Given the description of an element on the screen output the (x, y) to click on. 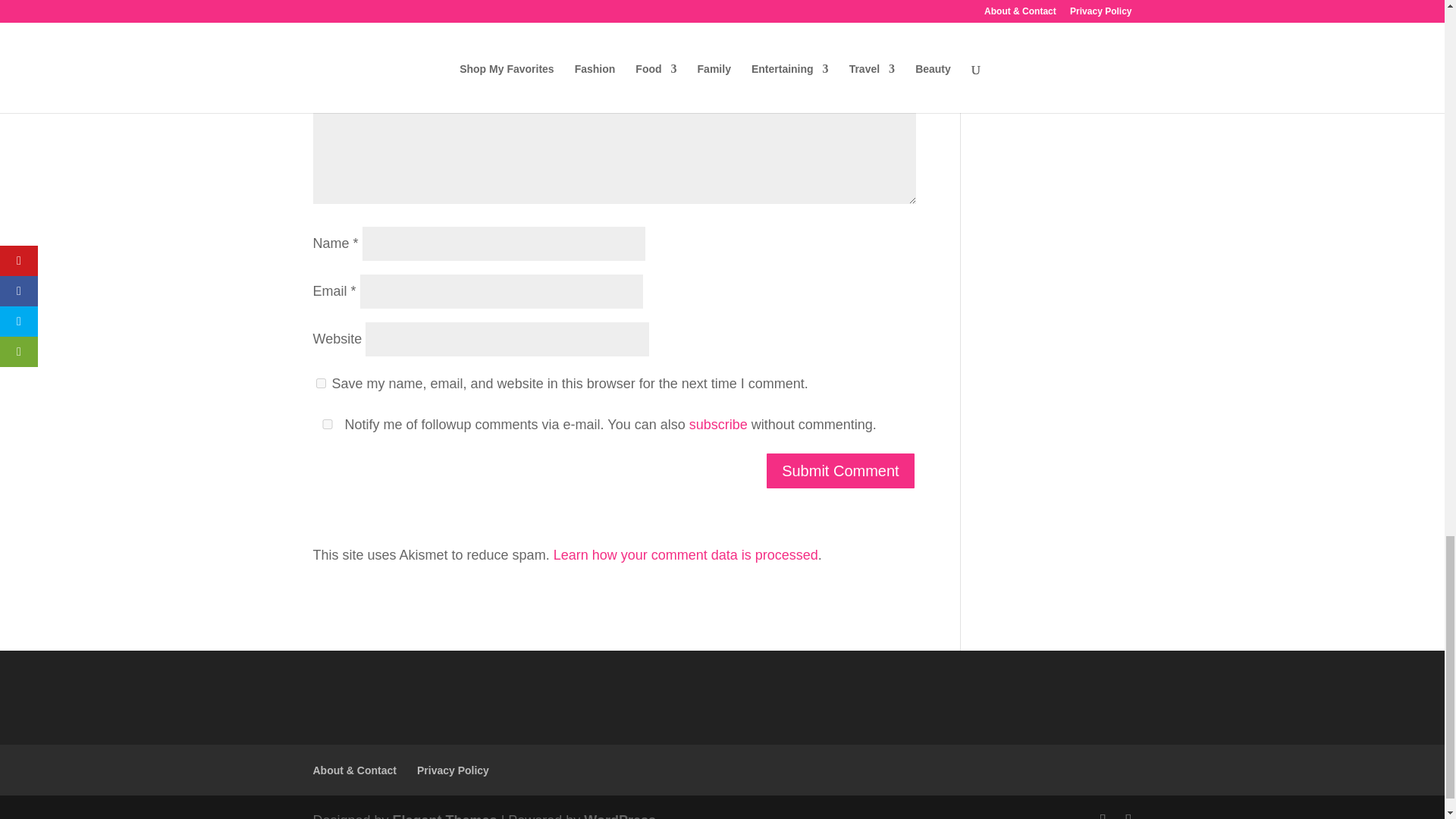
subscribe (718, 424)
Learn how your comment data is processed (685, 554)
Submit Comment (840, 470)
yes (319, 383)
Premium WordPress Themes (445, 816)
yes (326, 424)
Submit Comment (840, 470)
